Given the description of an element on the screen output the (x, y) to click on. 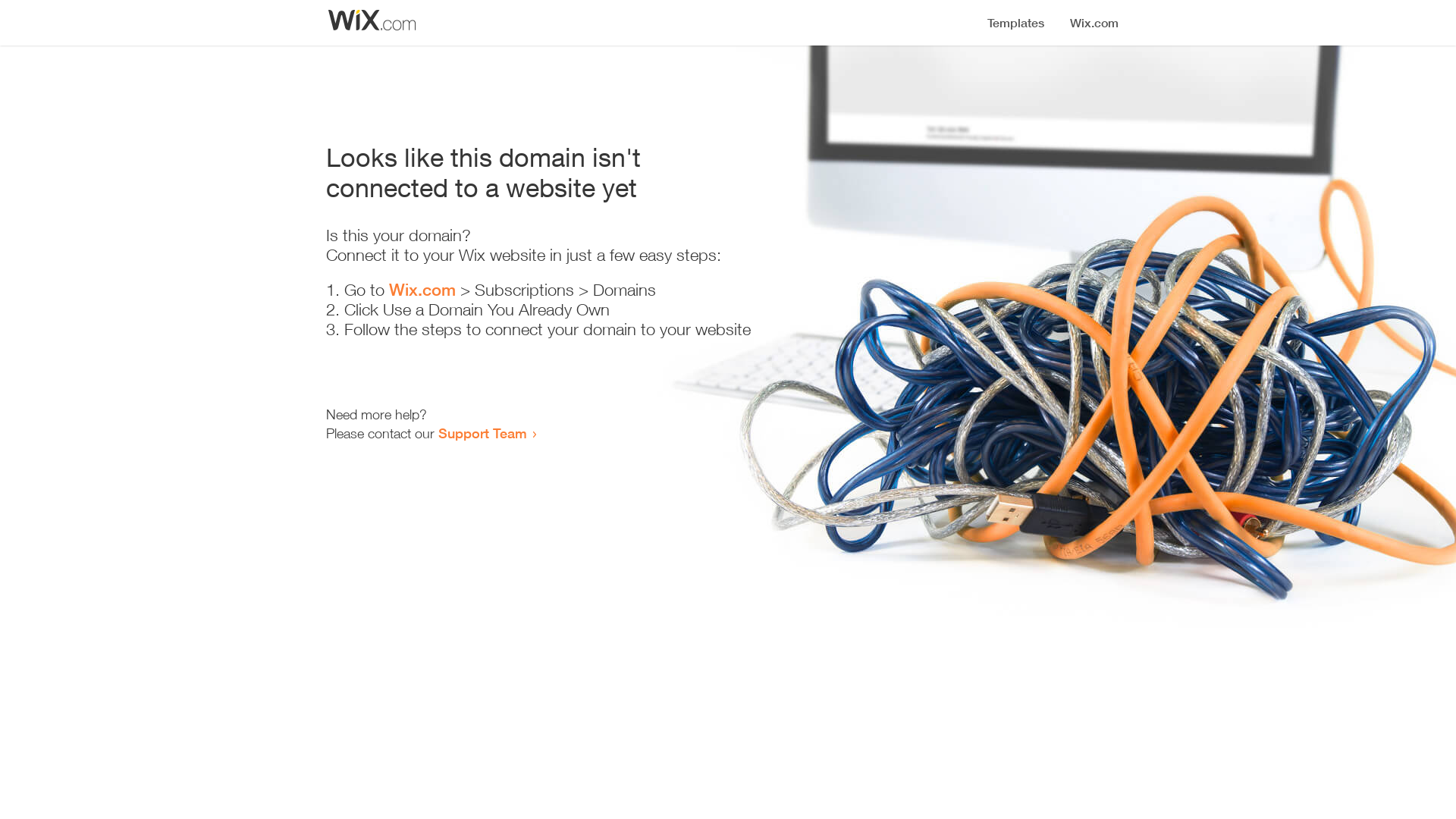
Support Team Element type: text (482, 432)
Wix.com Element type: text (422, 289)
